Given the description of an element on the screen output the (x, y) to click on. 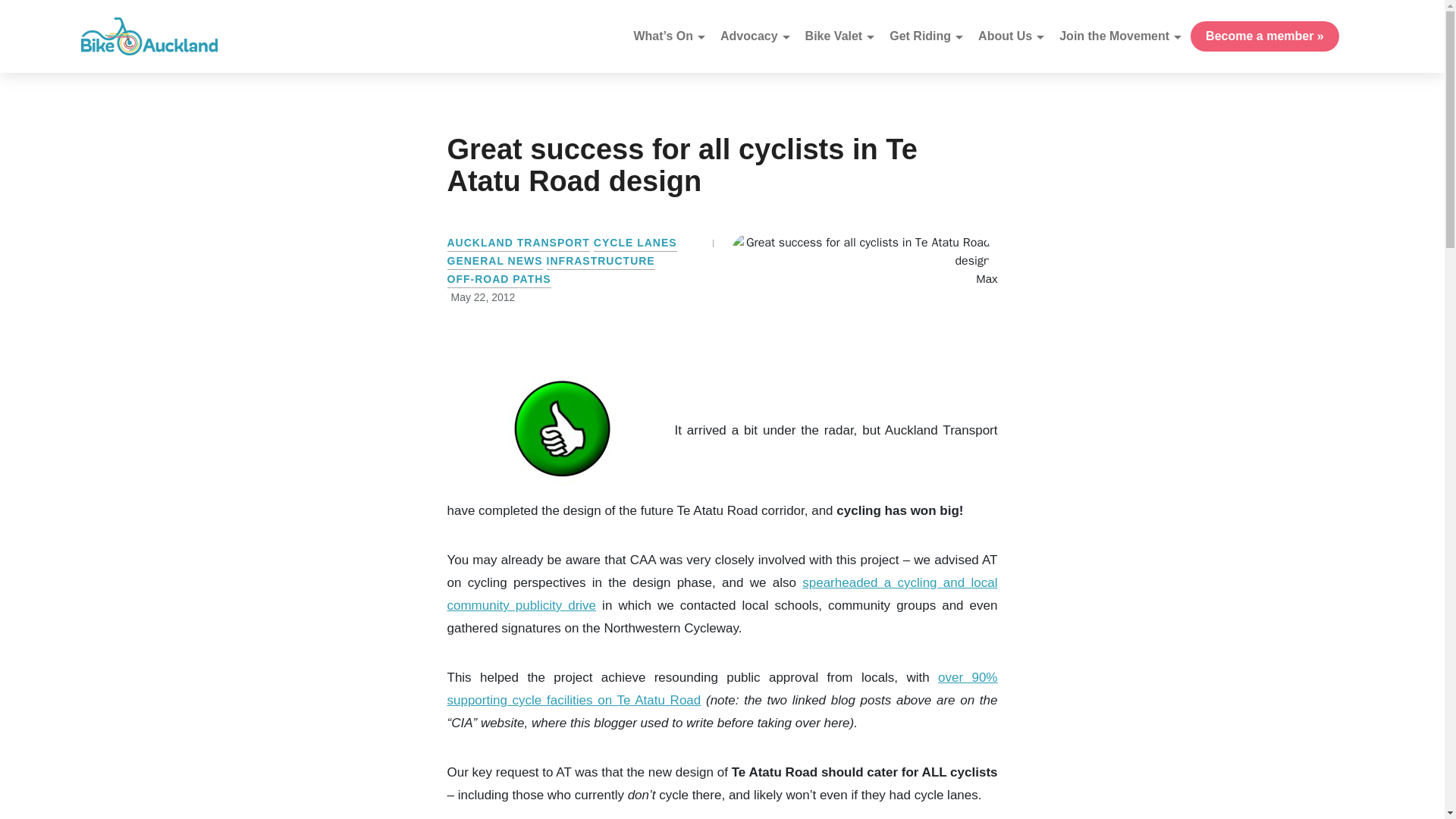
INFRASTRUCTURE (601, 262)
AUCKLAND TRANSPORT (517, 243)
About Us (1005, 35)
Join the Movement (1113, 35)
Thumbs Up Sign AT (560, 431)
Advocacy (749, 35)
Bike Auckland (148, 36)
Bike Valet (834, 35)
GENERAL NEWS (494, 262)
Get Riding (919, 35)
spearheaded a cycling and local community publicity drive (721, 593)
CYCLE LANES (635, 243)
OFF-ROAD PATHS (498, 280)
